Given the description of an element on the screen output the (x, y) to click on. 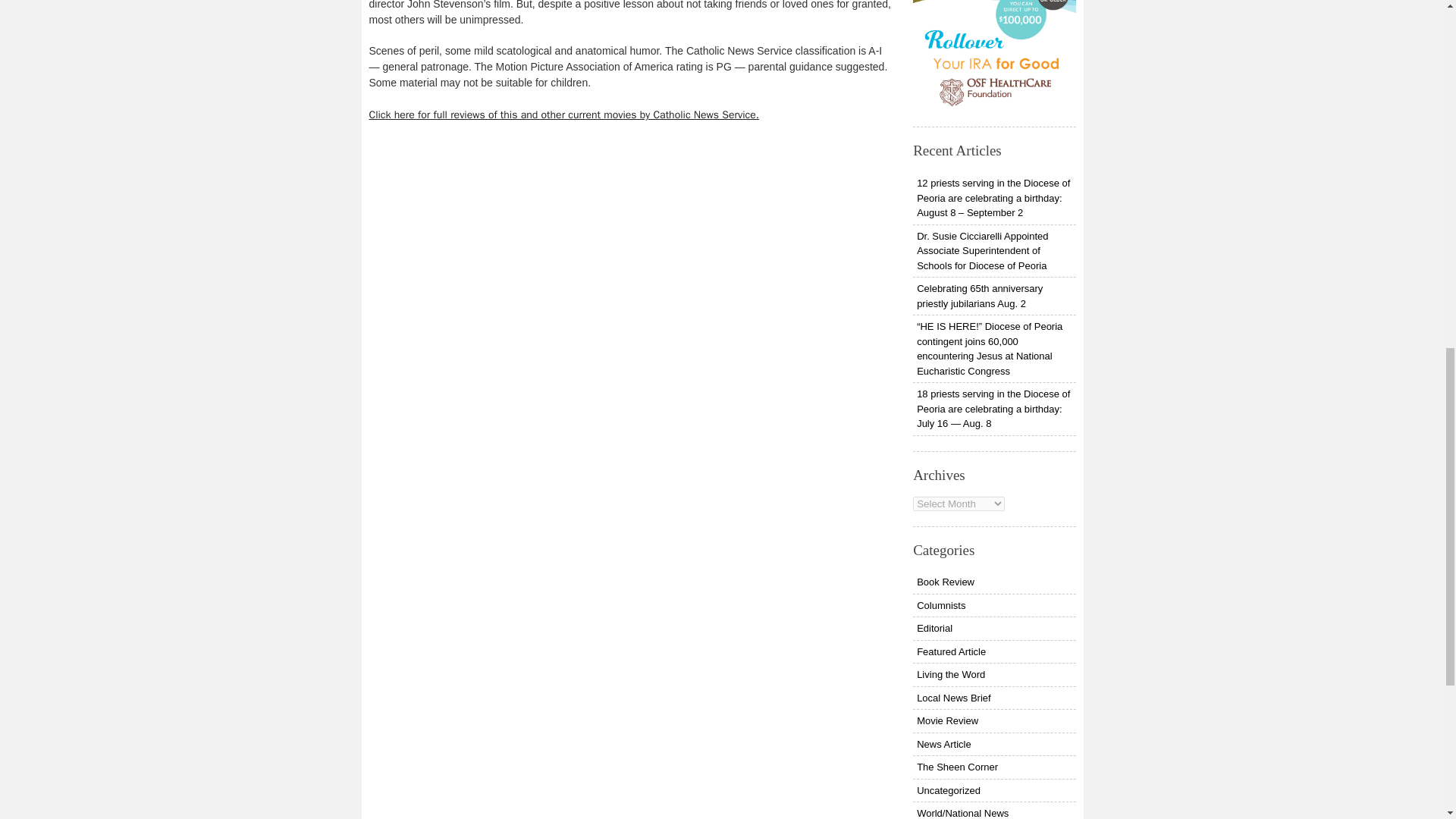
Book Review (993, 581)
Celebrating 65th anniversary priestly jubilarians Aug. 2 (993, 295)
Editorial (993, 628)
Featured Article (993, 651)
Columnists (993, 605)
